Given the description of an element on the screen output the (x, y) to click on. 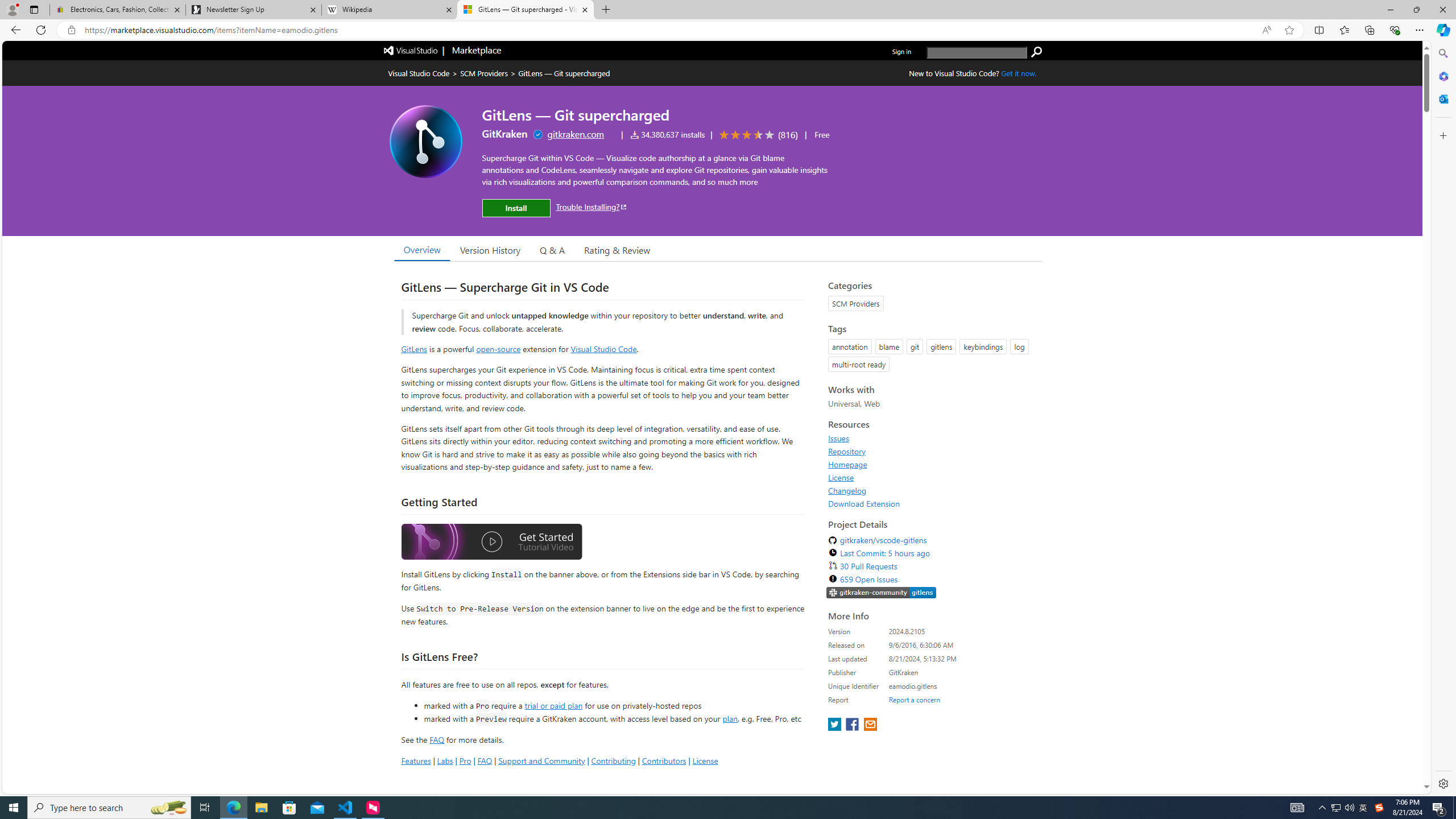
License (931, 477)
Q & A (552, 249)
More from GitKraken publisher (504, 133)
Issues (931, 437)
Rating & Review (618, 249)
Contributing (613, 760)
License (840, 477)
Get Visual Studio Code Now (1018, 72)
